Given the description of an element on the screen output the (x, y) to click on. 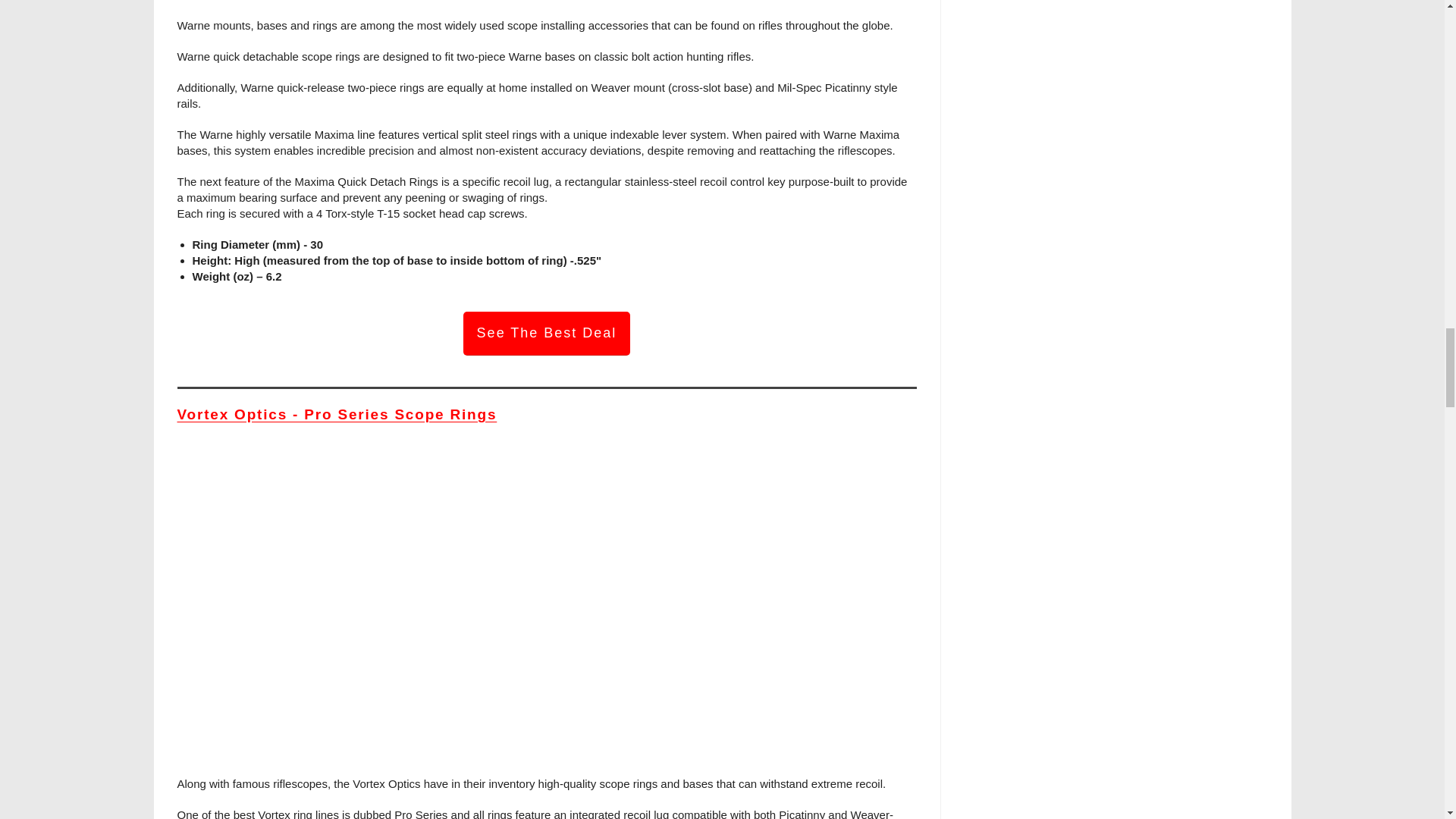
vortex optics pro series scope rings (546, 608)
